Given the description of an element on the screen output the (x, y) to click on. 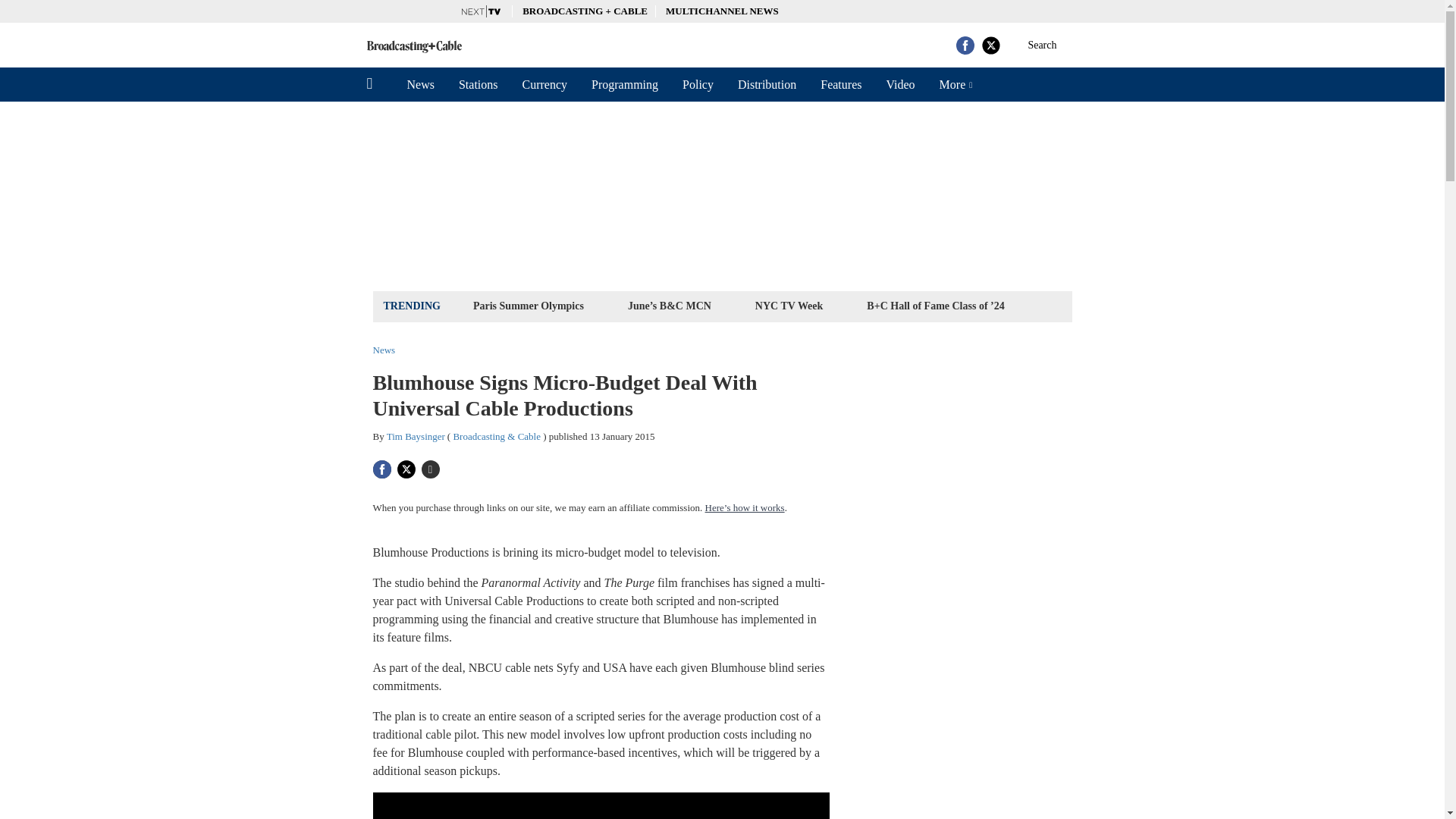
Currency (544, 84)
Stations (478, 84)
NYC TV Week (788, 305)
Features (840, 84)
Policy (697, 84)
Paris Summer Olympics (528, 305)
Programming (624, 84)
Tim Baysinger (416, 436)
Video (899, 84)
MULTICHANNEL NEWS (721, 10)
